Given the description of an element on the screen output the (x, y) to click on. 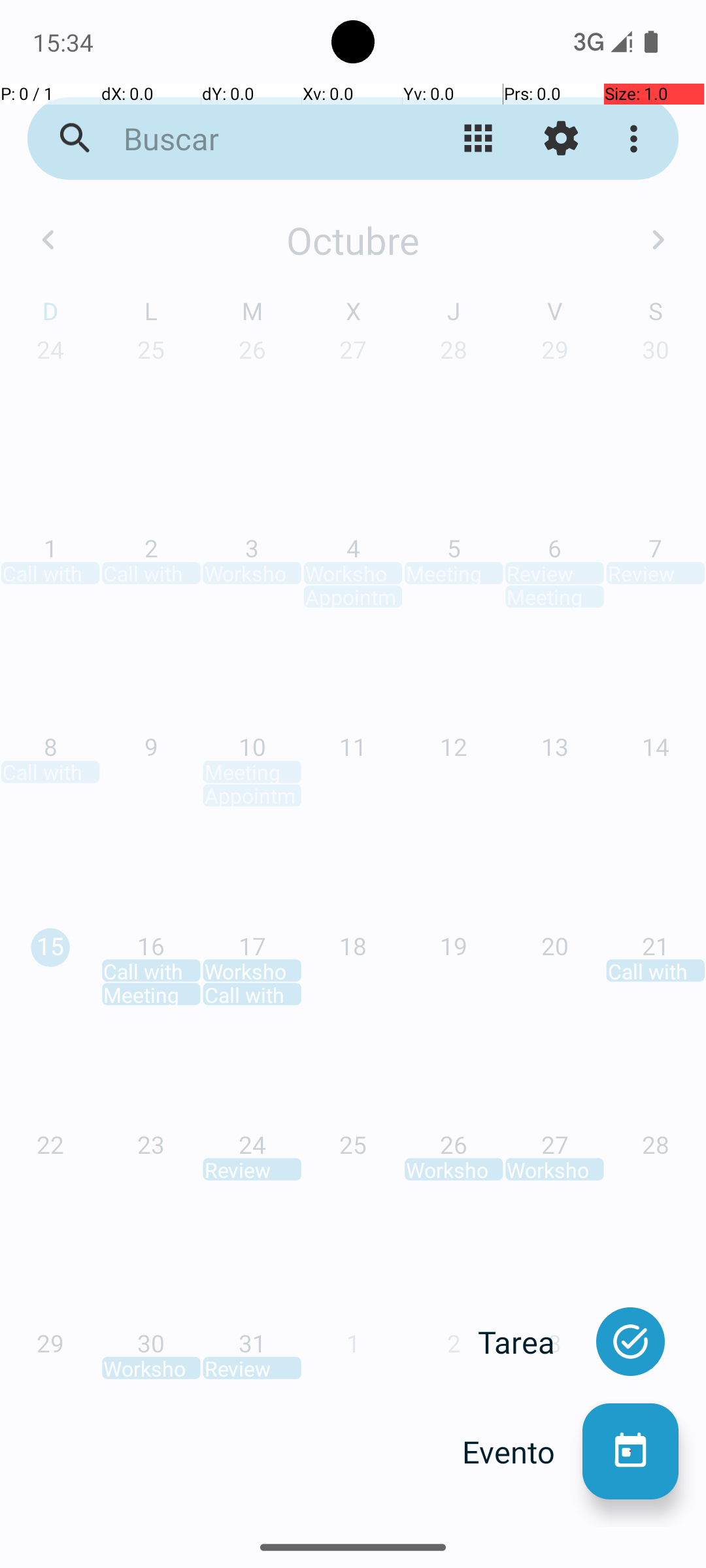
Tarea Element type: android.widget.TextView (529, 1341)
Evento Element type: android.widget.TextView (522, 1451)
